Given the description of an element on the screen output the (x, y) to click on. 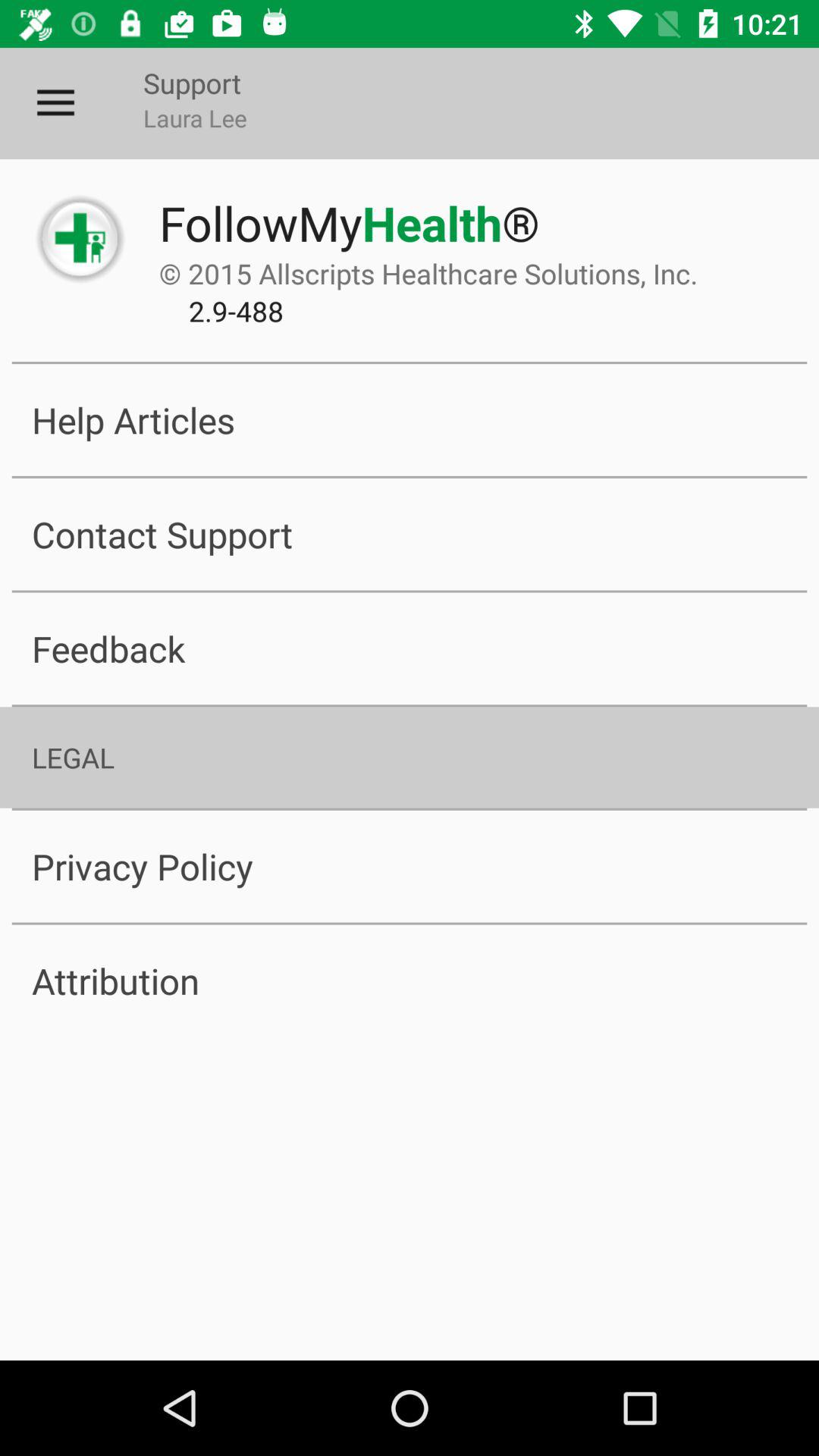
turn on item above contact support icon (409, 420)
